Given the description of an element on the screen output the (x, y) to click on. 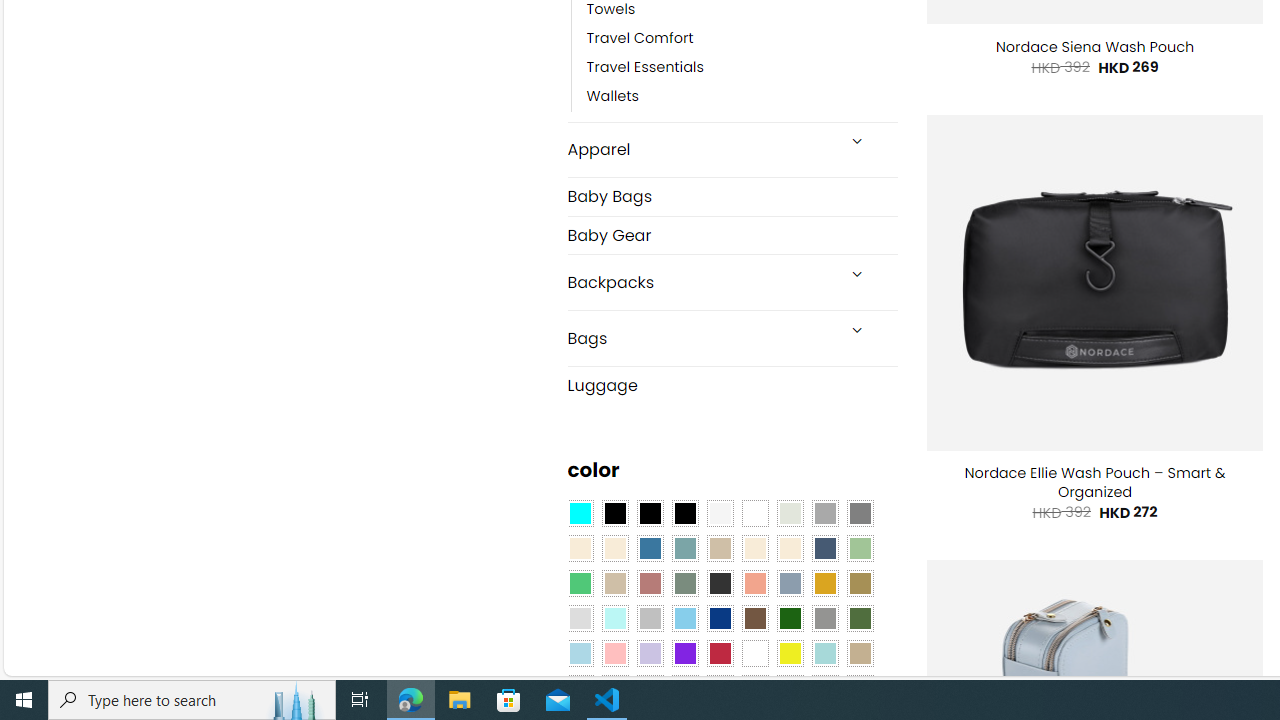
Gold (824, 583)
Baby Bags (732, 196)
Purple (684, 653)
Wallets (613, 97)
Blue (650, 548)
Luggage (732, 384)
Light Purple (650, 653)
Travel Essentials (645, 67)
Travel Comfort (742, 38)
Cream (789, 548)
Black (650, 514)
Travel Essentials (742, 67)
Dark Green (789, 619)
Clear (755, 514)
